Given the description of an element on the screen output the (x, y) to click on. 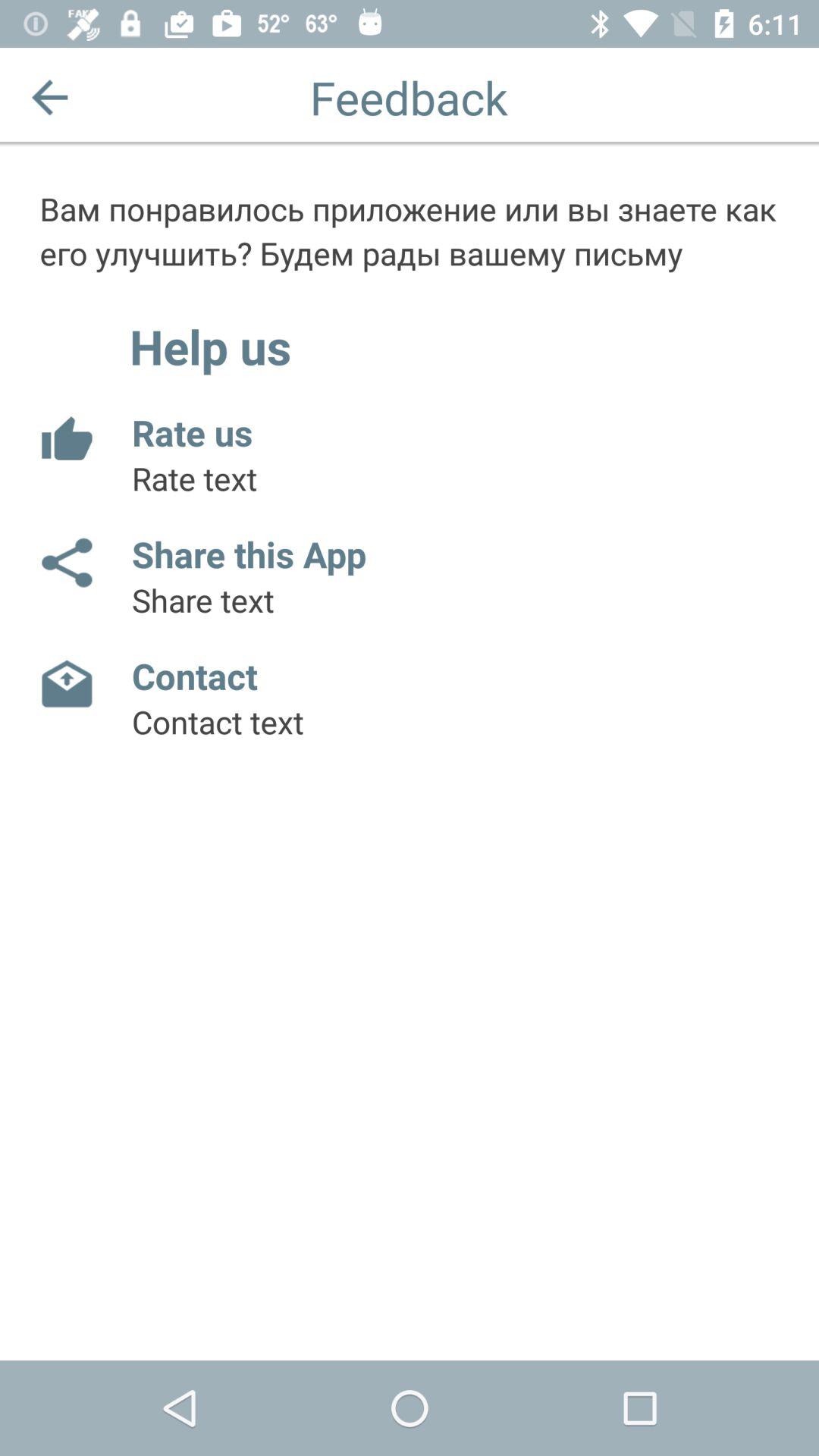
go to contact (65, 684)
